Given the description of an element on the screen output the (x, y) to click on. 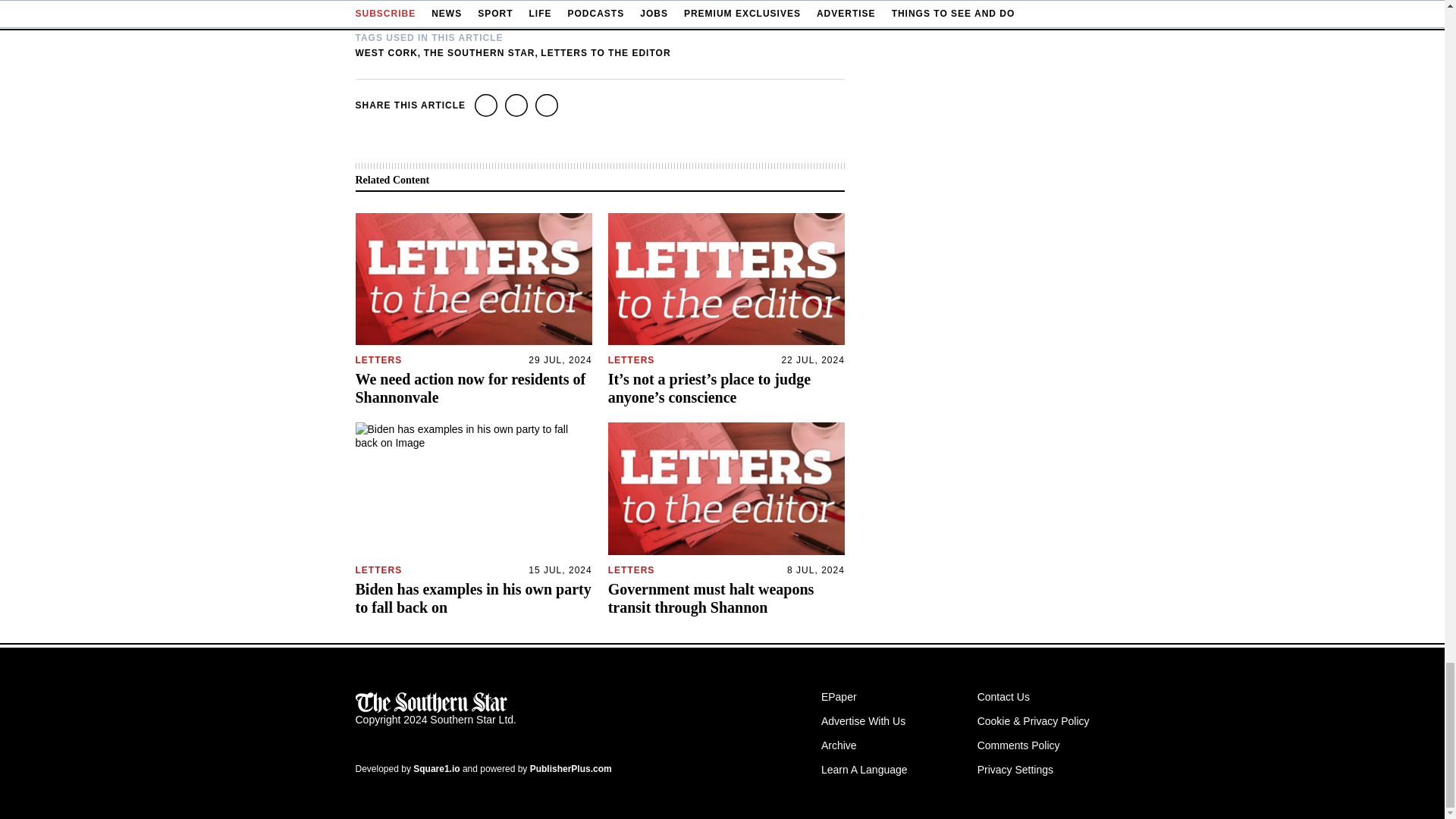
Southern Star Ltd. logo (430, 702)
ePaper (839, 696)
Learn A Language (864, 769)
Advertise With Us (863, 720)
Contact Us (1002, 696)
Archive (839, 745)
Comments Policy (1017, 745)
